Given the description of an element on the screen output the (x, y) to click on. 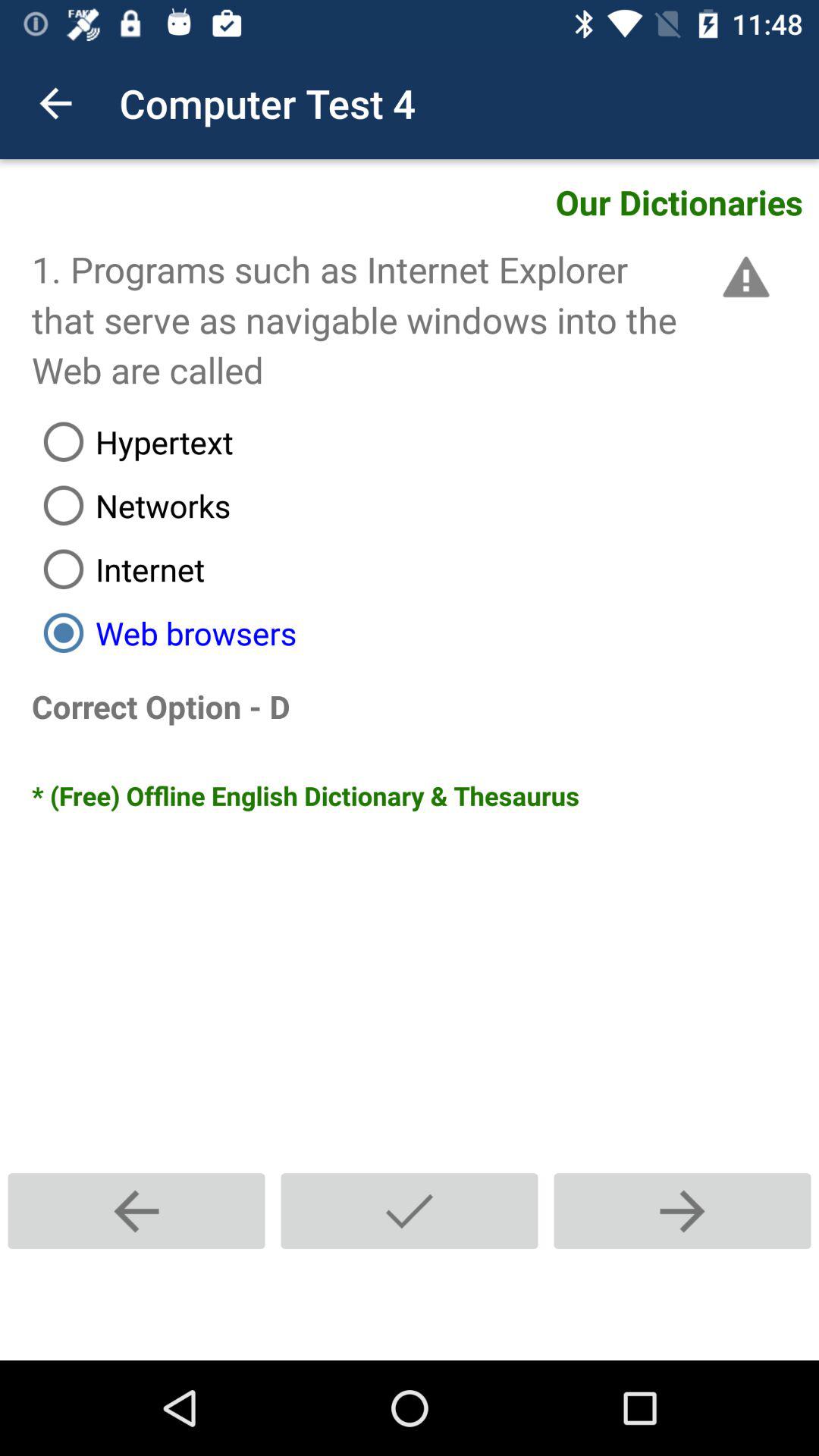
next question (682, 1210)
